Given the description of an element on the screen output the (x, y) to click on. 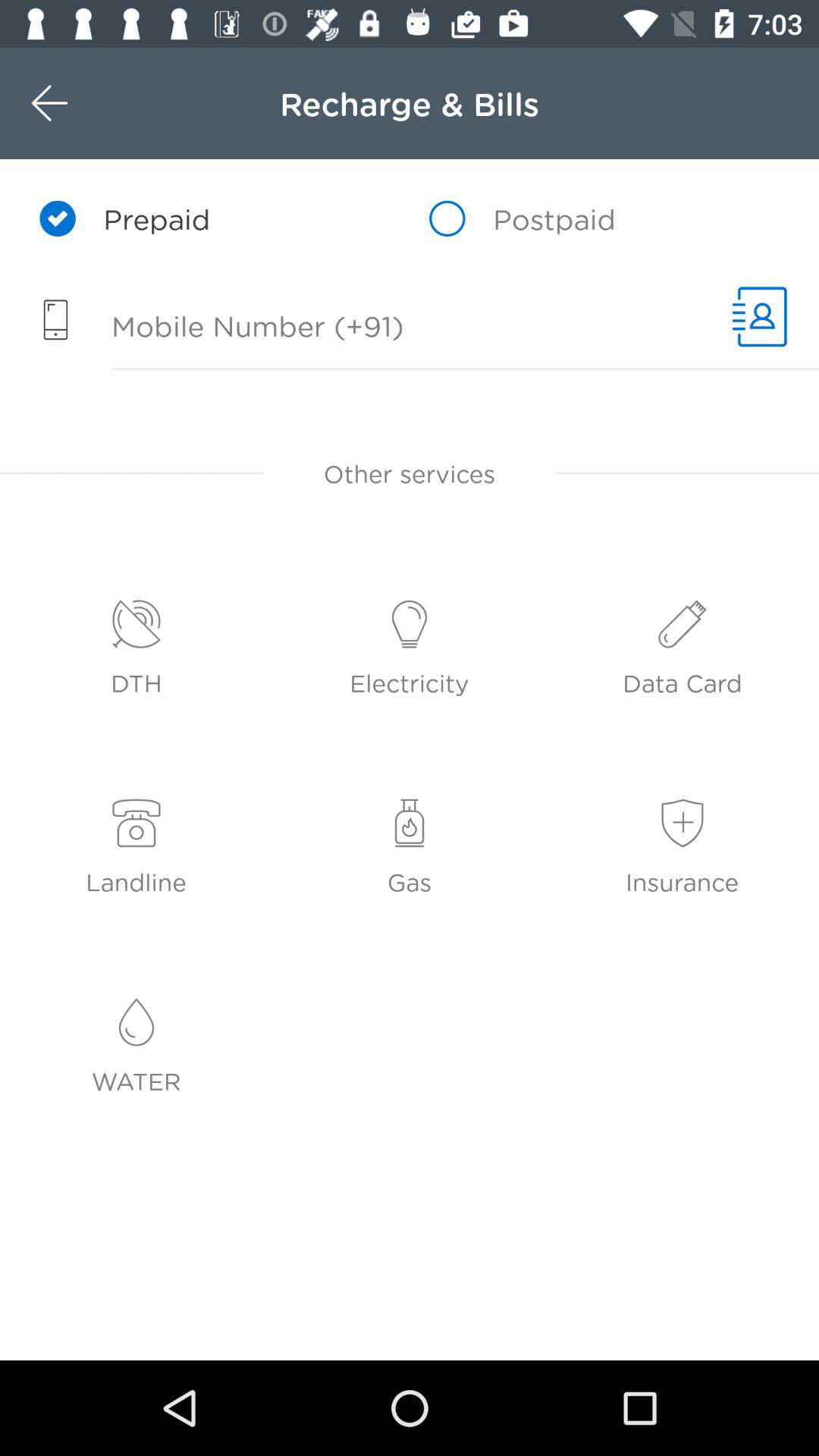
open 6 (759, 317)
